Given the description of an element on the screen output the (x, y) to click on. 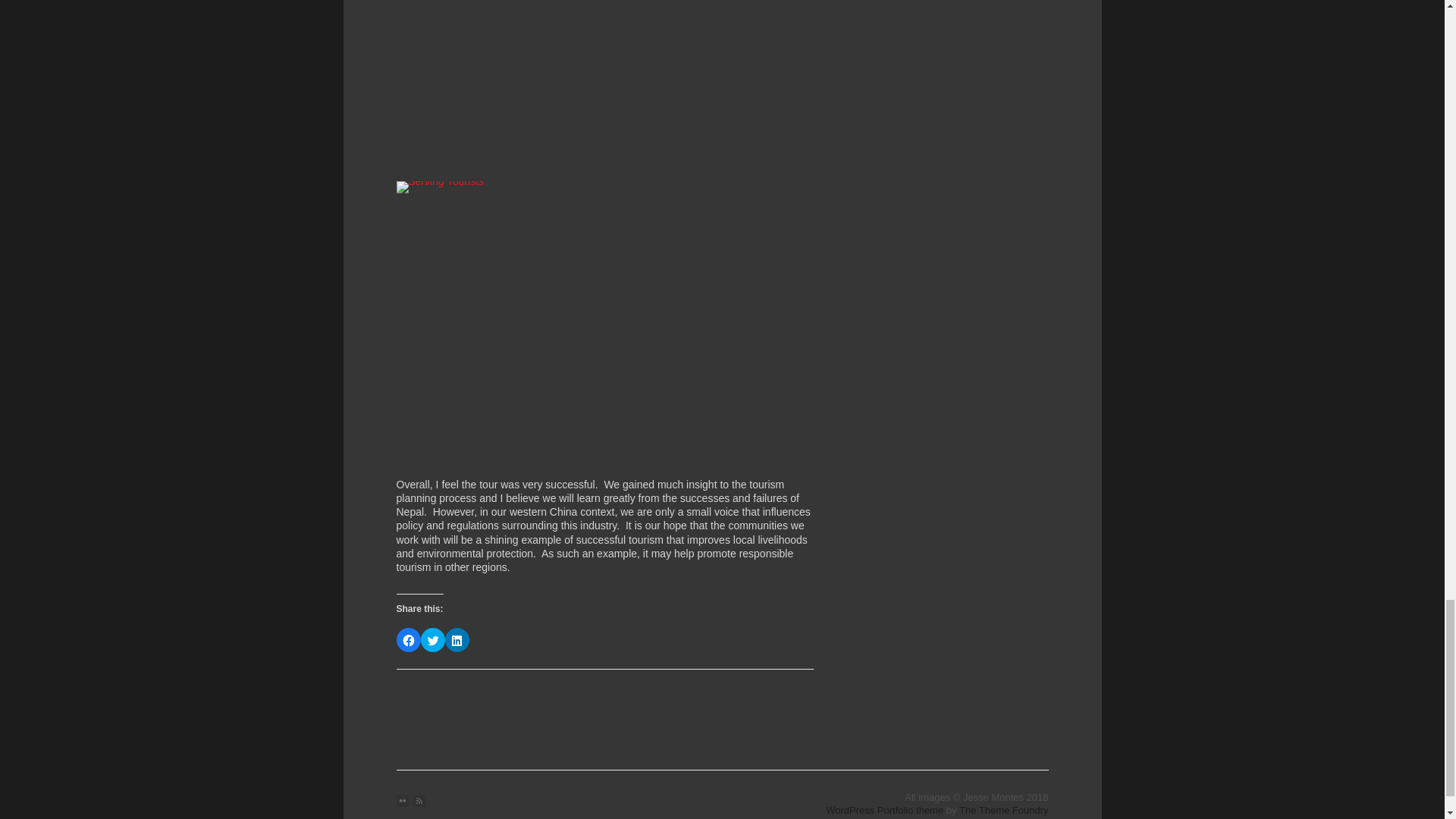
Click to share on Twitter (432, 639)
Click to share on Facebook (408, 639)
Click to share on LinkedIn (456, 639)
RSS (419, 800)
Flickr (401, 800)
